Given the description of an element on the screen output the (x, y) to click on. 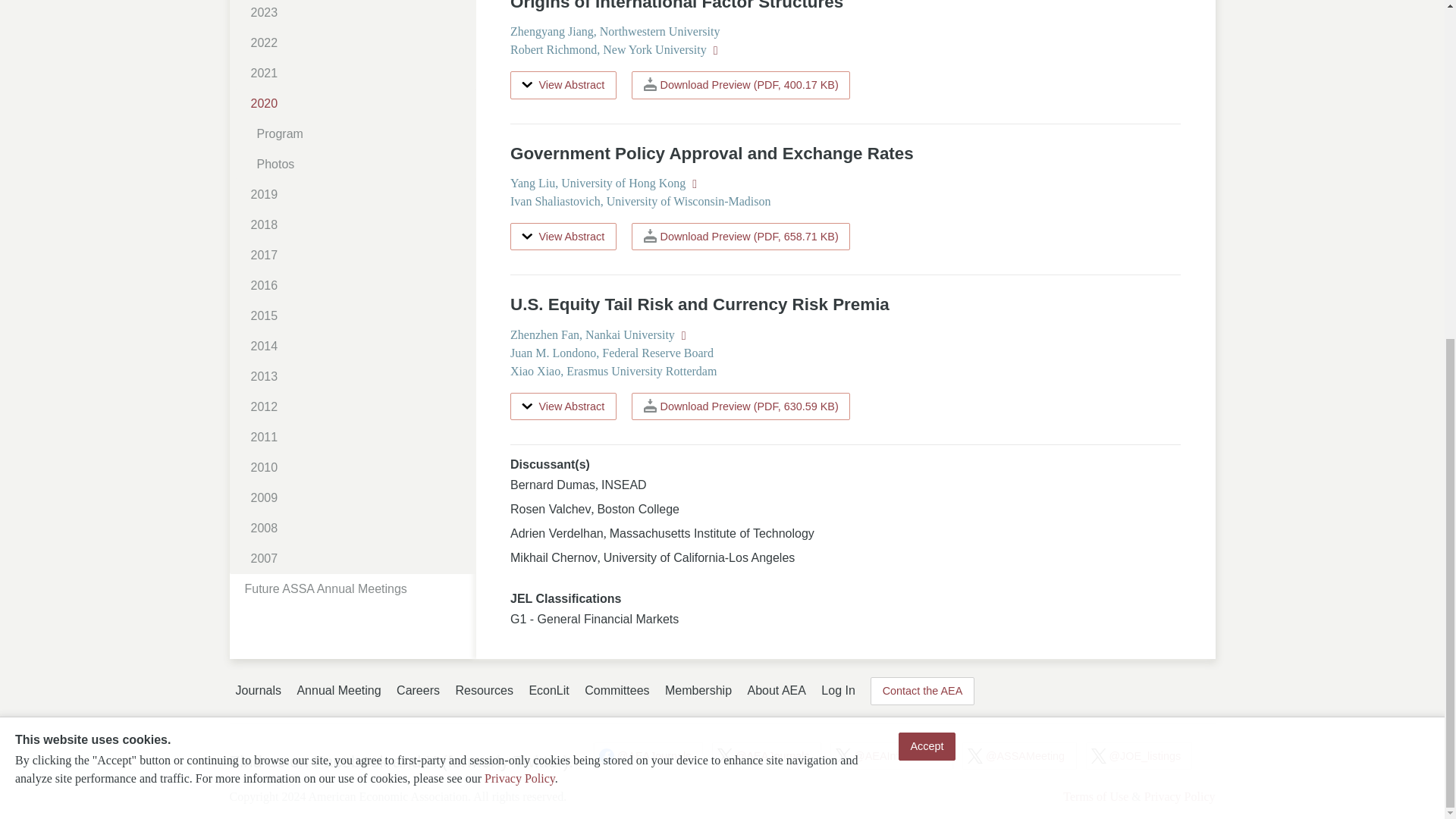
2023 (358, 13)
View Abstract (563, 236)
View Abstract (563, 406)
Accept (926, 172)
View Abstract (563, 85)
Privacy Policy (519, 205)
2022 (358, 42)
